Given the description of an element on the screen output the (x, y) to click on. 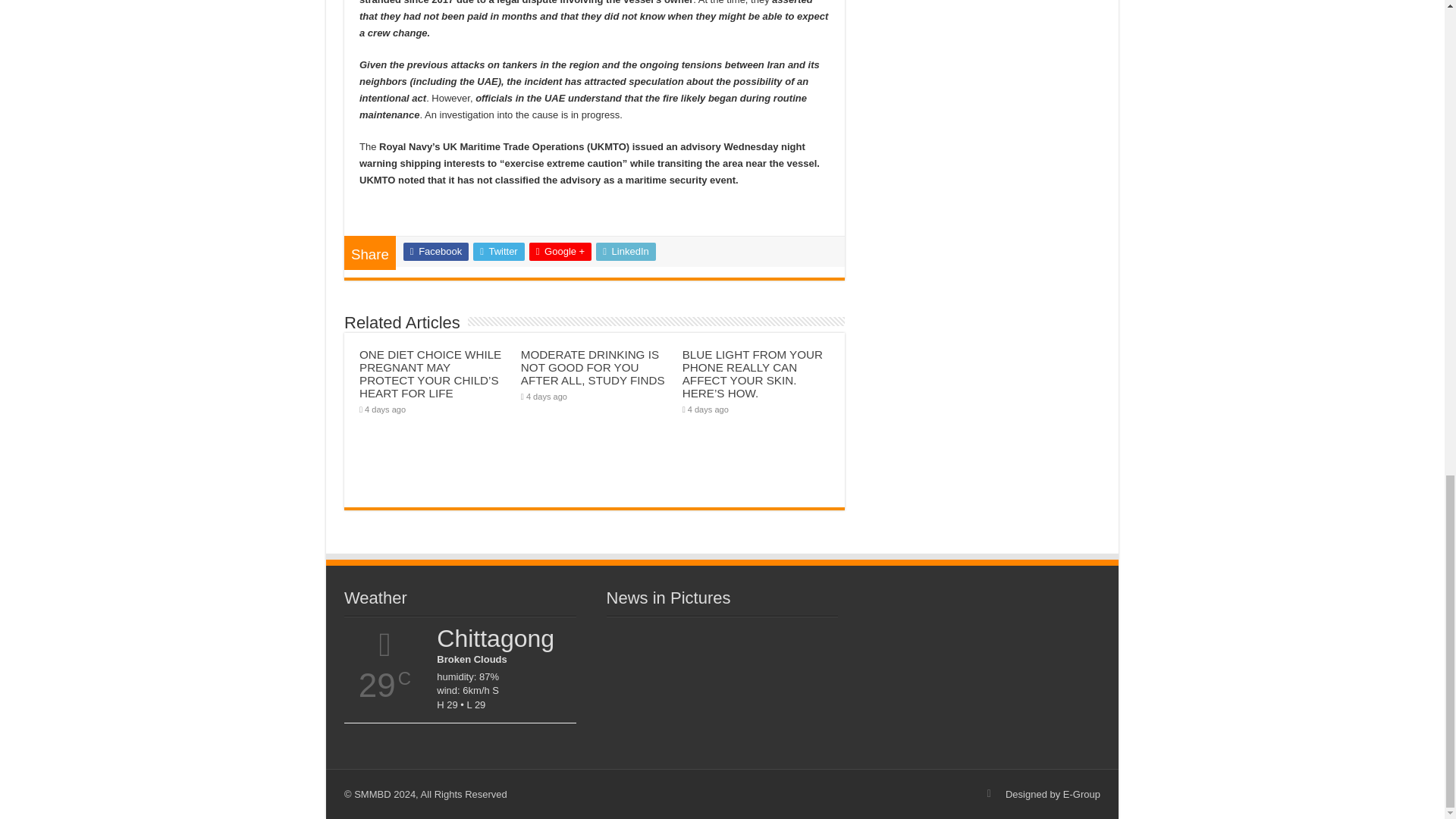
LinkedIn (625, 251)
Facebook (435, 251)
MODERATE DRINKING IS NOT GOOD FOR YOU AFTER ALL, STUDY FINDS (593, 367)
Twitter (498, 251)
